Given the description of an element on the screen output the (x, y) to click on. 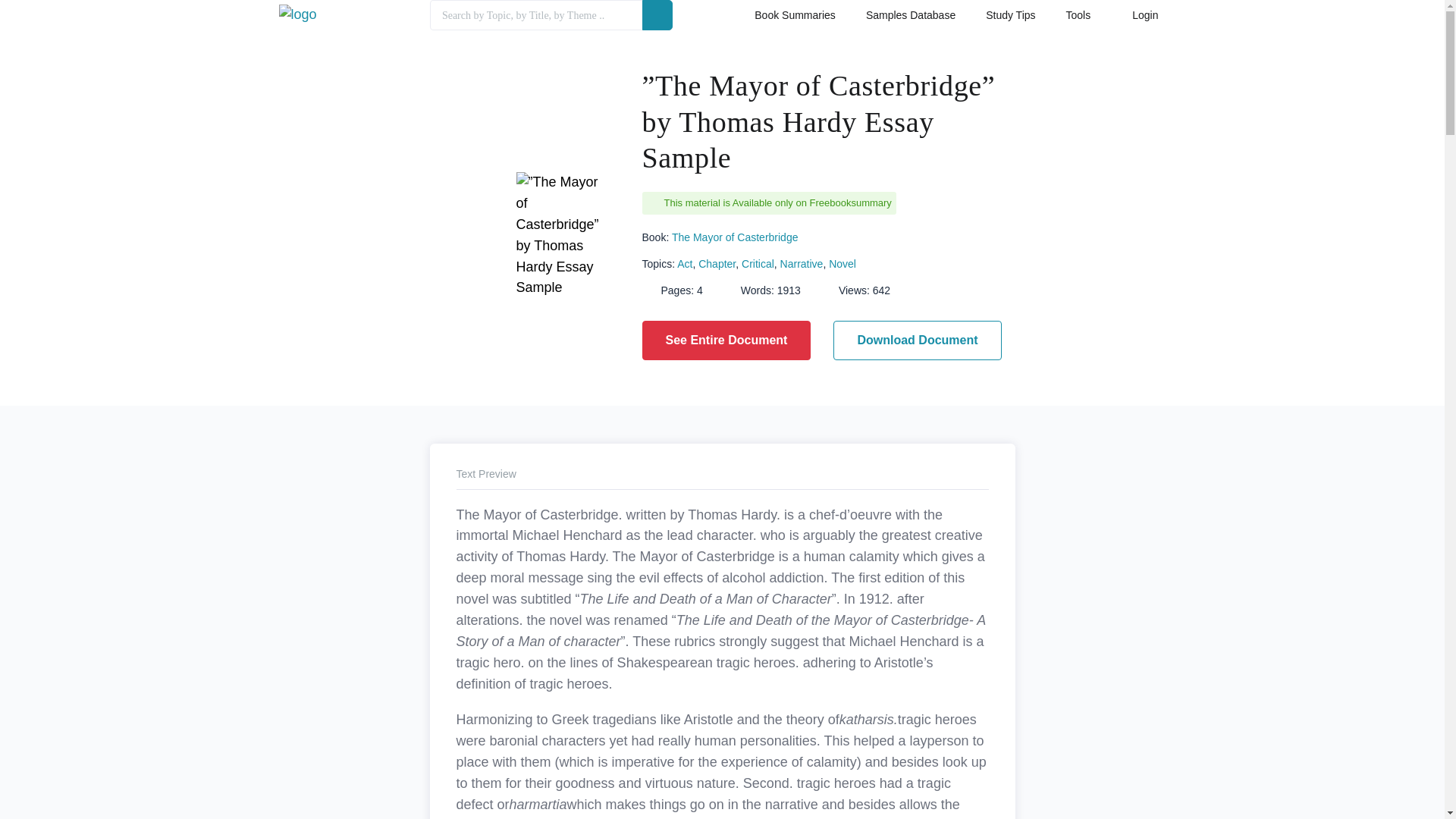
Tools (1078, 18)
The Mayor of Casterbridge (734, 236)
Samples Database (910, 18)
Chapter (716, 263)
Study Tips (1010, 18)
Login (1139, 18)
Critical (757, 263)
Narrative (802, 263)
Act (685, 263)
Book Summaries (794, 18)
